Given the description of an element on the screen output the (x, y) to click on. 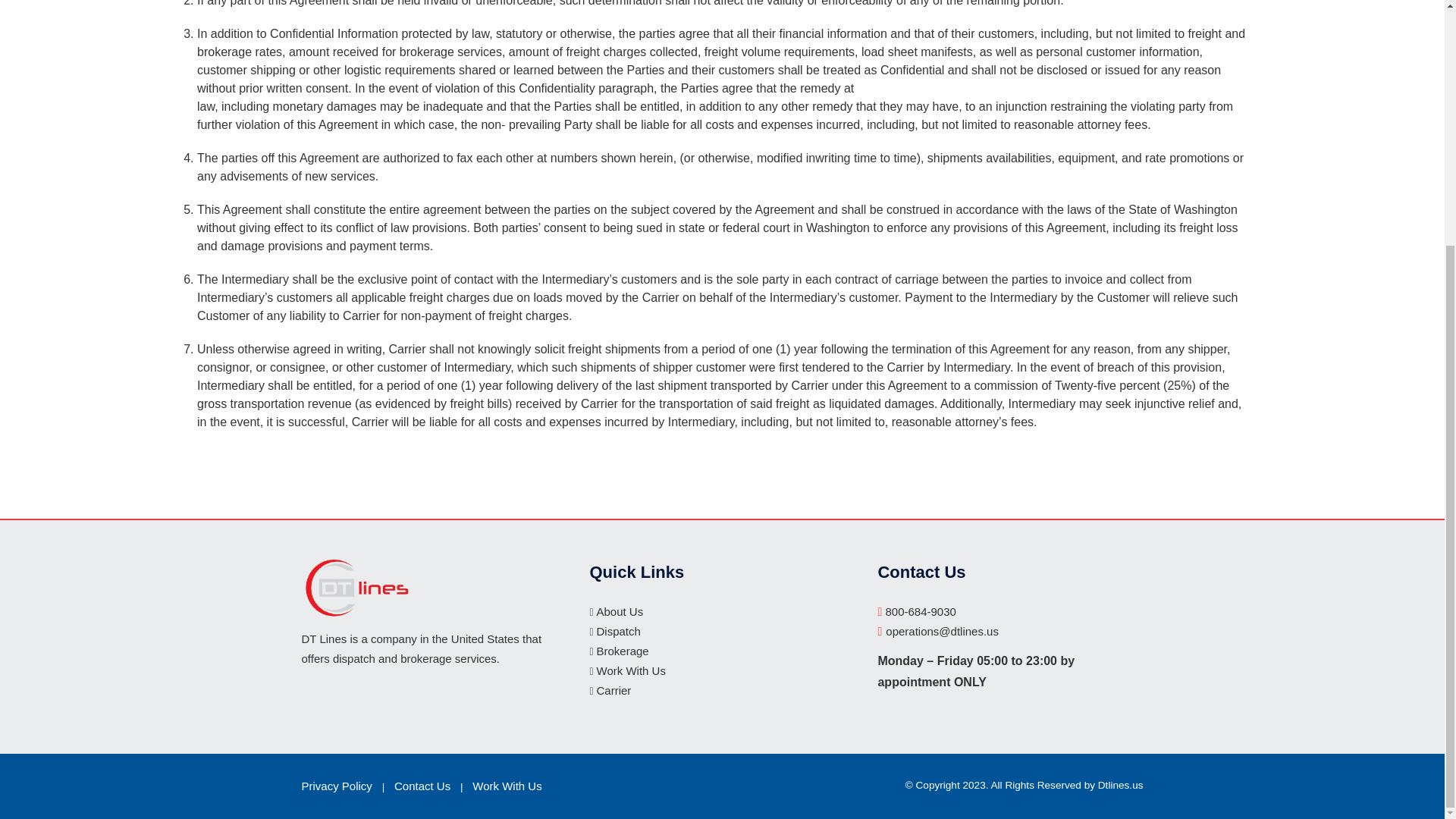
Work With Us (506, 785)
Brokerage (621, 650)
Privacy Policy (336, 785)
Carrier (612, 689)
Dispatch (617, 631)
About Us (619, 611)
Contact Us (421, 785)
800-684-9030 (919, 611)
Work With Us (630, 670)
